Given the description of an element on the screen output the (x, y) to click on. 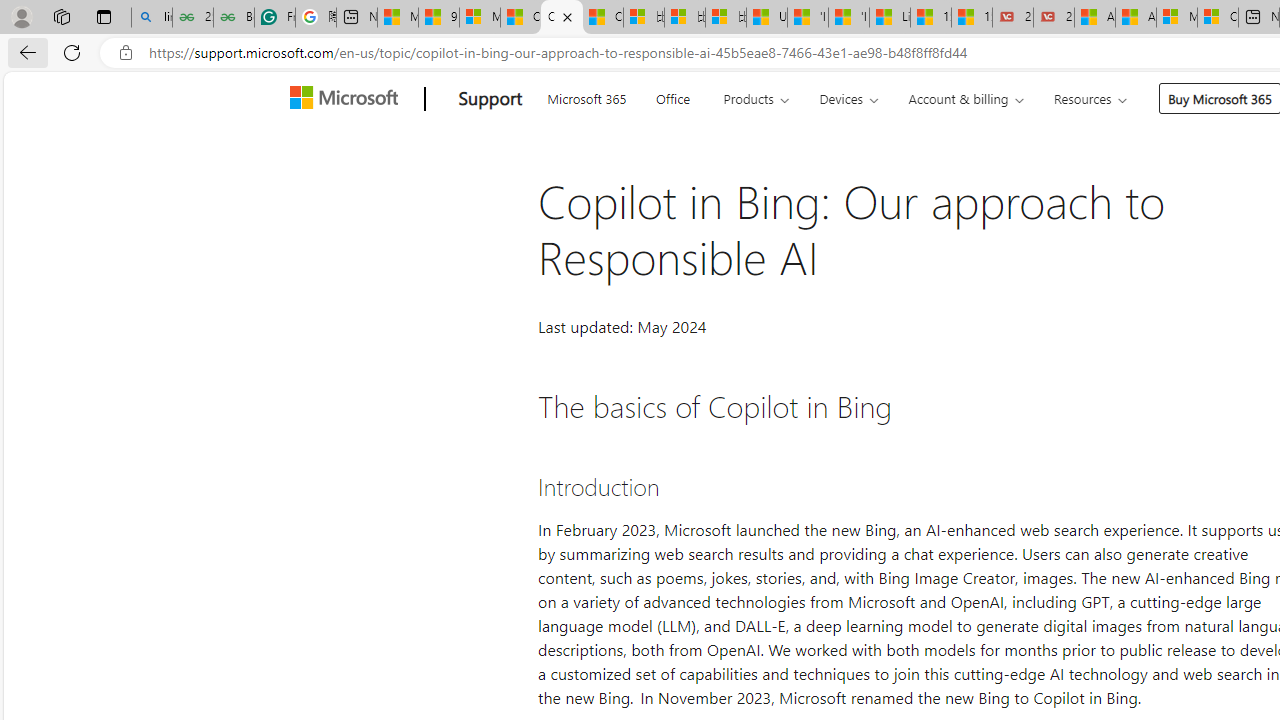
Workspaces (61, 16)
25 Basic Linux Commands For Beginners - GeeksforGeeks (192, 17)
Microsoft Services Agreement (1176, 17)
linux basic - Search (151, 17)
Lifestyle - MSN (890, 17)
Personal Profile (21, 16)
Tab actions menu (104, 16)
Cloud Computing Services | Microsoft Azure (1217, 17)
Refresh (72, 52)
Best SSL Certificates Provider in India - GeeksforGeeks (233, 17)
Microsoft Start (397, 17)
Office (672, 96)
Office (672, 96)
